Given the description of an element on the screen output the (x, y) to click on. 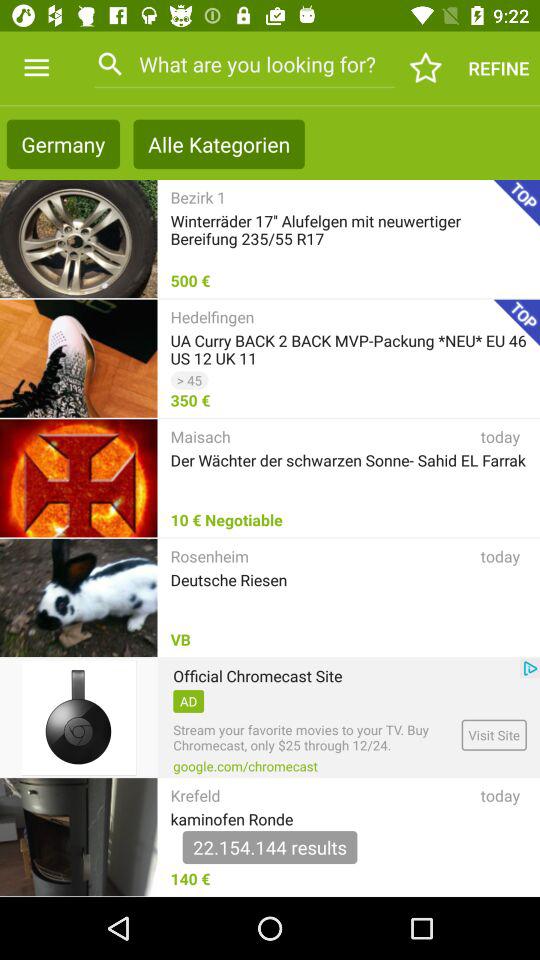
open official chromecast site icon (257, 675)
